Given the description of an element on the screen output the (x, y) to click on. 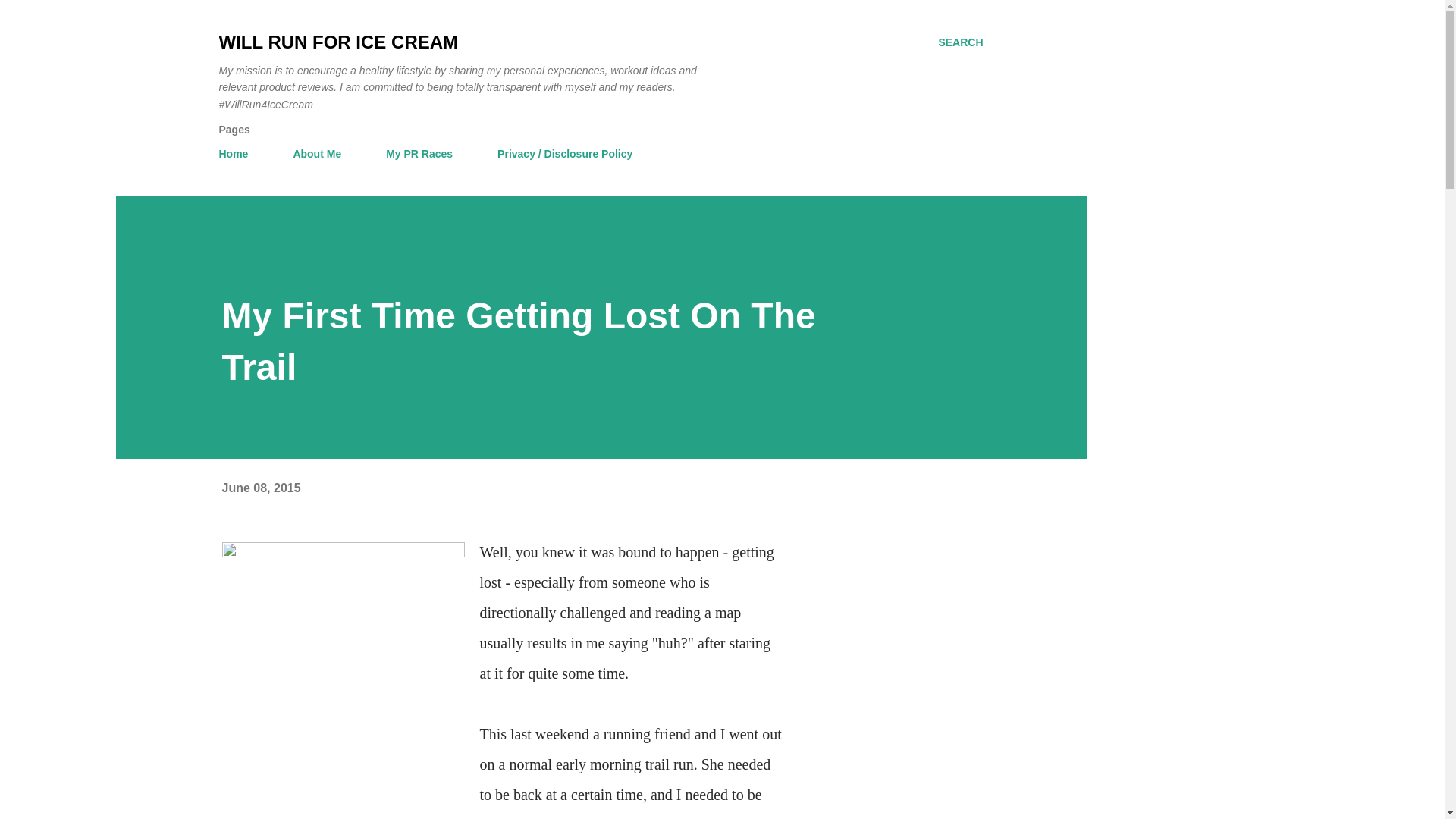
SEARCH (959, 42)
About Me (316, 153)
My PR Races (419, 153)
WILL RUN FOR ICE CREAM (338, 41)
June 08, 2015 (260, 487)
permanent link (260, 487)
Home (237, 153)
